Given the description of an element on the screen output the (x, y) to click on. 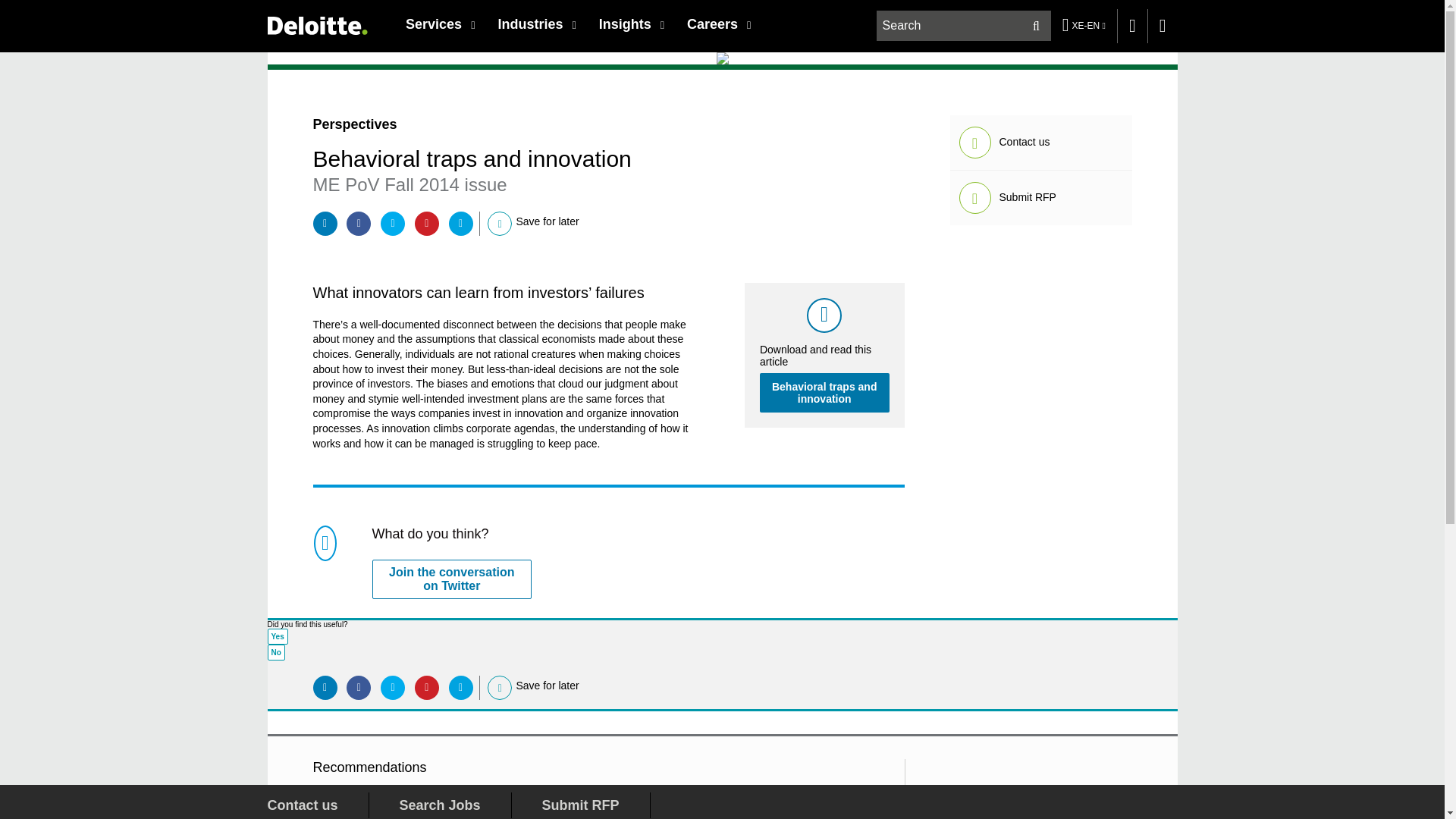
Deloitte Middle East (316, 25)
Share by email (460, 223)
Services (440, 24)
Share on Facebook (358, 223)
Share on LinkedIn (324, 687)
search (964, 25)
Search (1036, 25)
Share on Pinterest (426, 223)
Share on Twitter (392, 687)
Industries (536, 24)
Save for later (499, 687)
Share on Pinterest (426, 687)
Save for later (499, 223)
Share by email (460, 687)
Share on Twitter (392, 223)
